Given the description of an element on the screen output the (x, y) to click on. 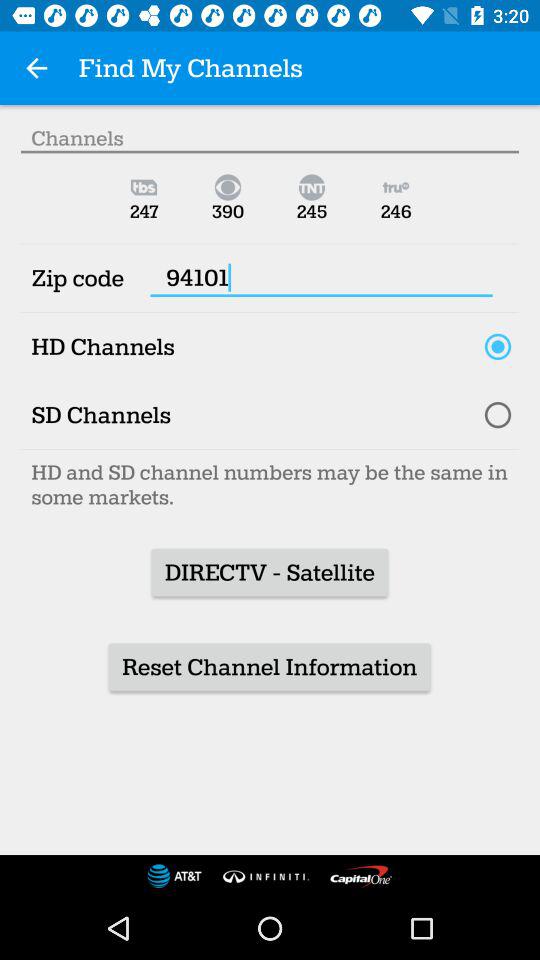
choose sd channels option (498, 415)
